Given the description of an element on the screen output the (x, y) to click on. 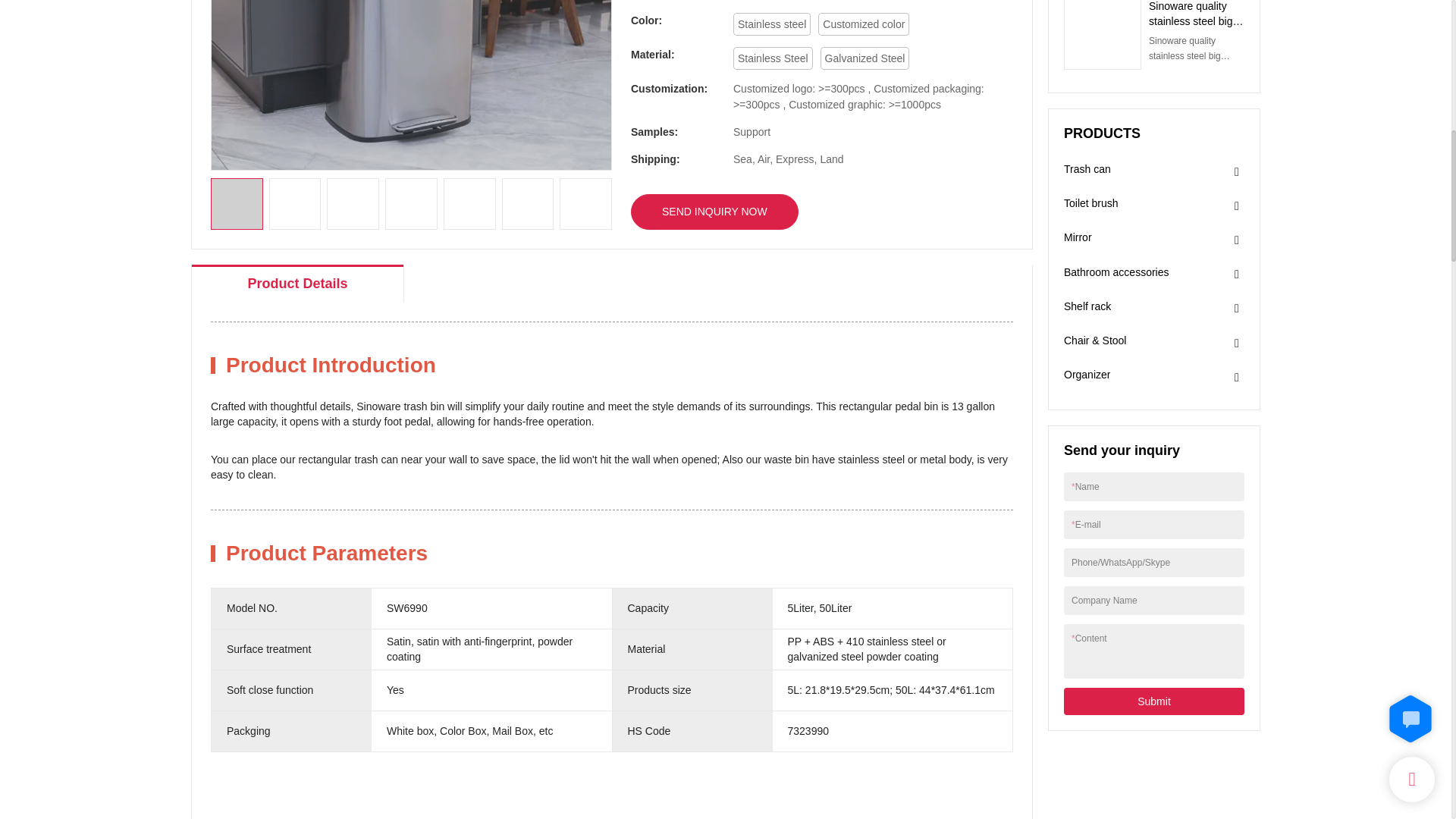
Stainless steel (771, 24)
Customized color (863, 24)
Stainless Steel (772, 57)
Galvanized Steel (865, 57)
